Given the description of an element on the screen output the (x, y) to click on. 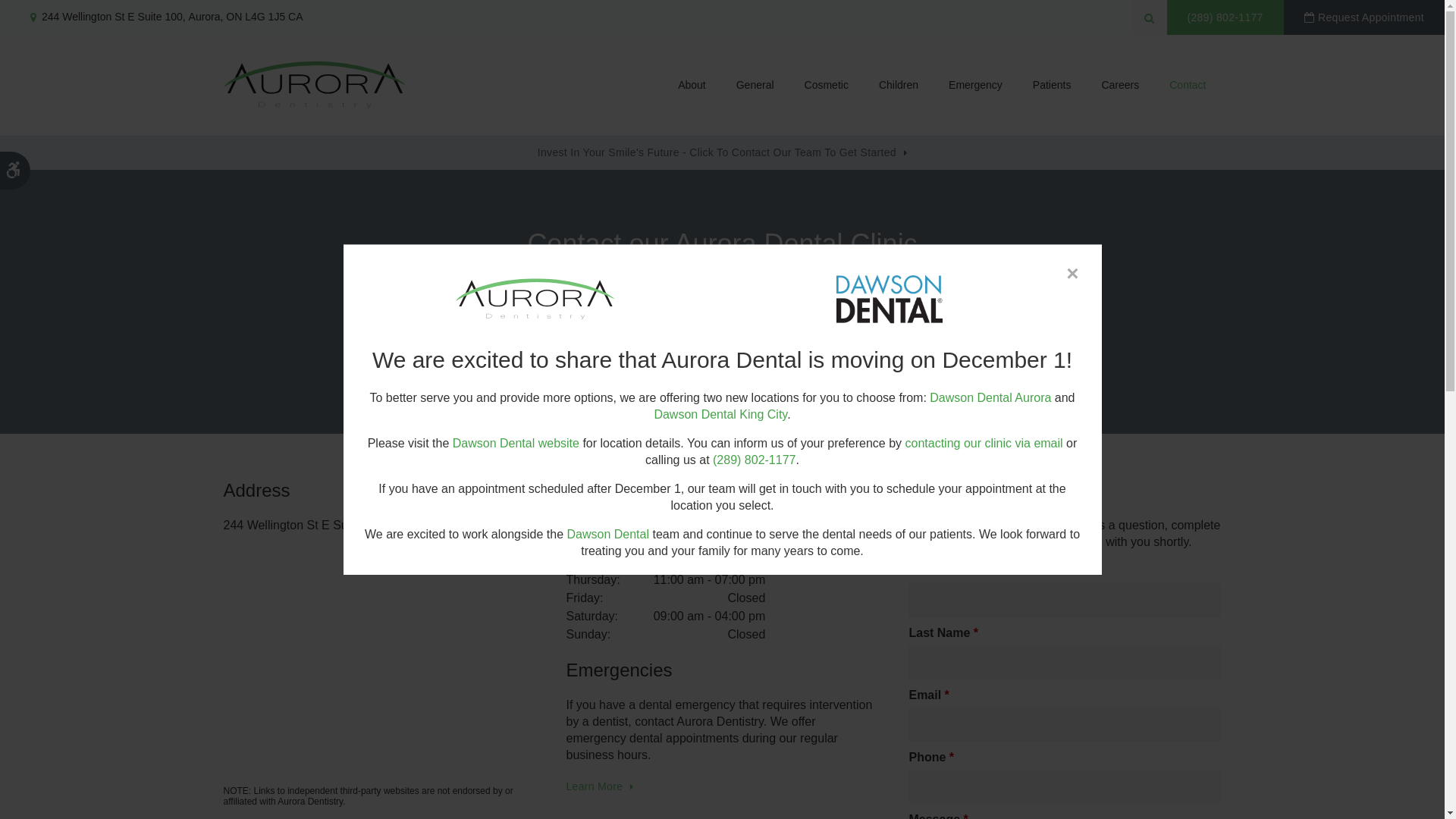
contacting our clinic via email Element type: text (984, 442)
(289) 802-1177 Element type: text (659, 359)
Home Element type: hover (313, 85)
About Element type: text (691, 85)
Cosmetic Element type: text (826, 85)
Accessible Version Element type: text (15, 170)
(289) 802-1177 Element type: text (1224, 17)
General Element type: text (755, 85)
Patients Element type: text (1051, 85)
Open Search Box Element type: text (1148, 17)
(289) 802-1177 Element type: text (753, 459)
Dawson Dental Aurora Element type: text (990, 397)
Learn More Element type: text (599, 786)
Email Us Element type: text (806, 359)
Map - Aurora Dentistry Element type: hover (373, 659)
Careers Element type: text (1119, 85)
Children Element type: text (898, 85)
Dawson Dental Element type: text (607, 533)
Dawson Dental King City Element type: text (720, 413)
Contact Element type: text (1187, 85)
Request Appointment Element type: text (1363, 17)
Dawson Dental website Element type: text (515, 442)
Emergency Element type: text (975, 85)
244 Wellington St E Suite 100, Aurora, ON L4G 1J5 CA Element type: text (166, 16)
